Given the description of an element on the screen output the (x, y) to click on. 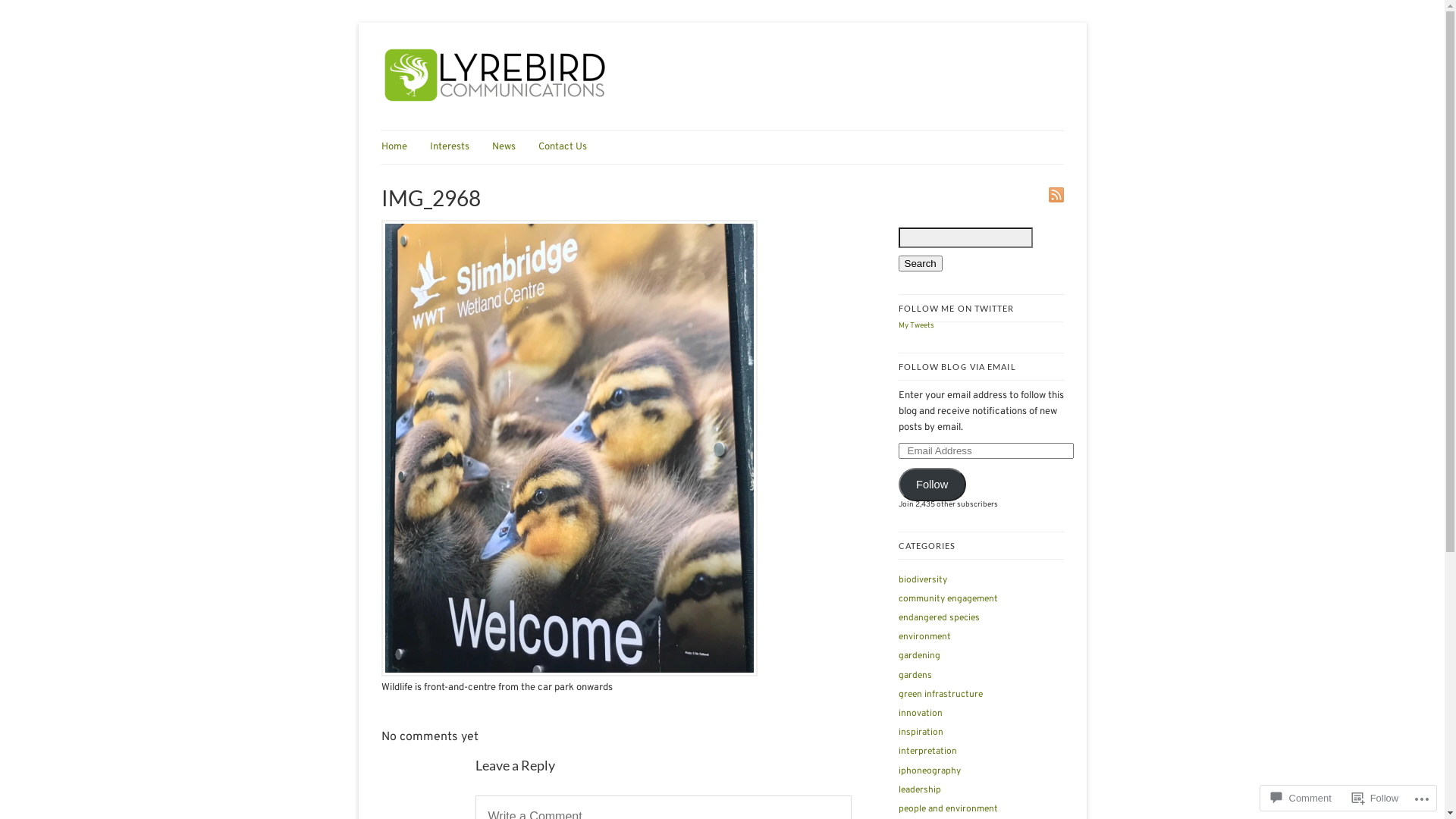
iphoneography Element type: text (928, 771)
My Tweets Element type: text (915, 325)
Follow Element type: text (931, 484)
News Element type: text (510, 147)
Follow Element type: text (1375, 797)
RSS Element type: hover (1055, 194)
gardens Element type: text (914, 675)
environment Element type: text (923, 636)
Contact Us Element type: text (570, 147)
Search Element type: text (919, 263)
Interests Element type: text (456, 147)
community engagement Element type: text (947, 599)
leadership Element type: text (918, 790)
IMG_2968 Element type: hover (568, 674)
interpretation Element type: text (926, 751)
green infrastructure Element type: text (939, 694)
endangered species Element type: text (938, 617)
Home Element type: text (400, 147)
innovation Element type: text (919, 713)
Comment Element type: text (1300, 797)
inspiration Element type: text (919, 732)
gardening Element type: text (918, 655)
people and environment Element type: text (947, 809)
biodiversity Element type: text (921, 580)
